Given the description of an element on the screen output the (x, y) to click on. 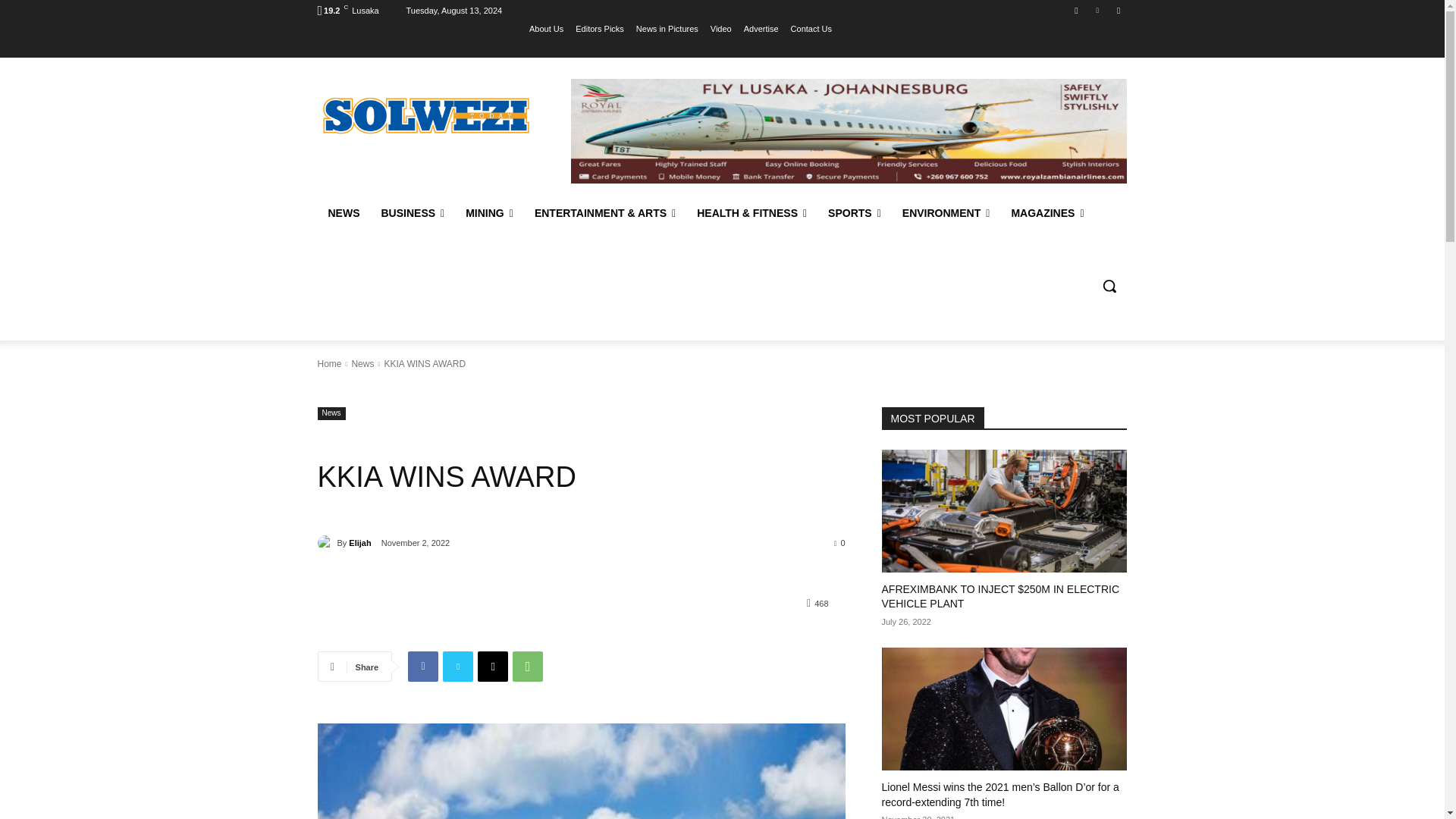
BUSINESS (411, 212)
Video (721, 28)
Instagram (1075, 9)
Advertise (761, 28)
About Us (546, 28)
News in Pictures (667, 28)
Twitter (1097, 9)
NEWS (343, 212)
Youtube (1117, 9)
Editors Picks (599, 28)
